Given the description of an element on the screen output the (x, y) to click on. 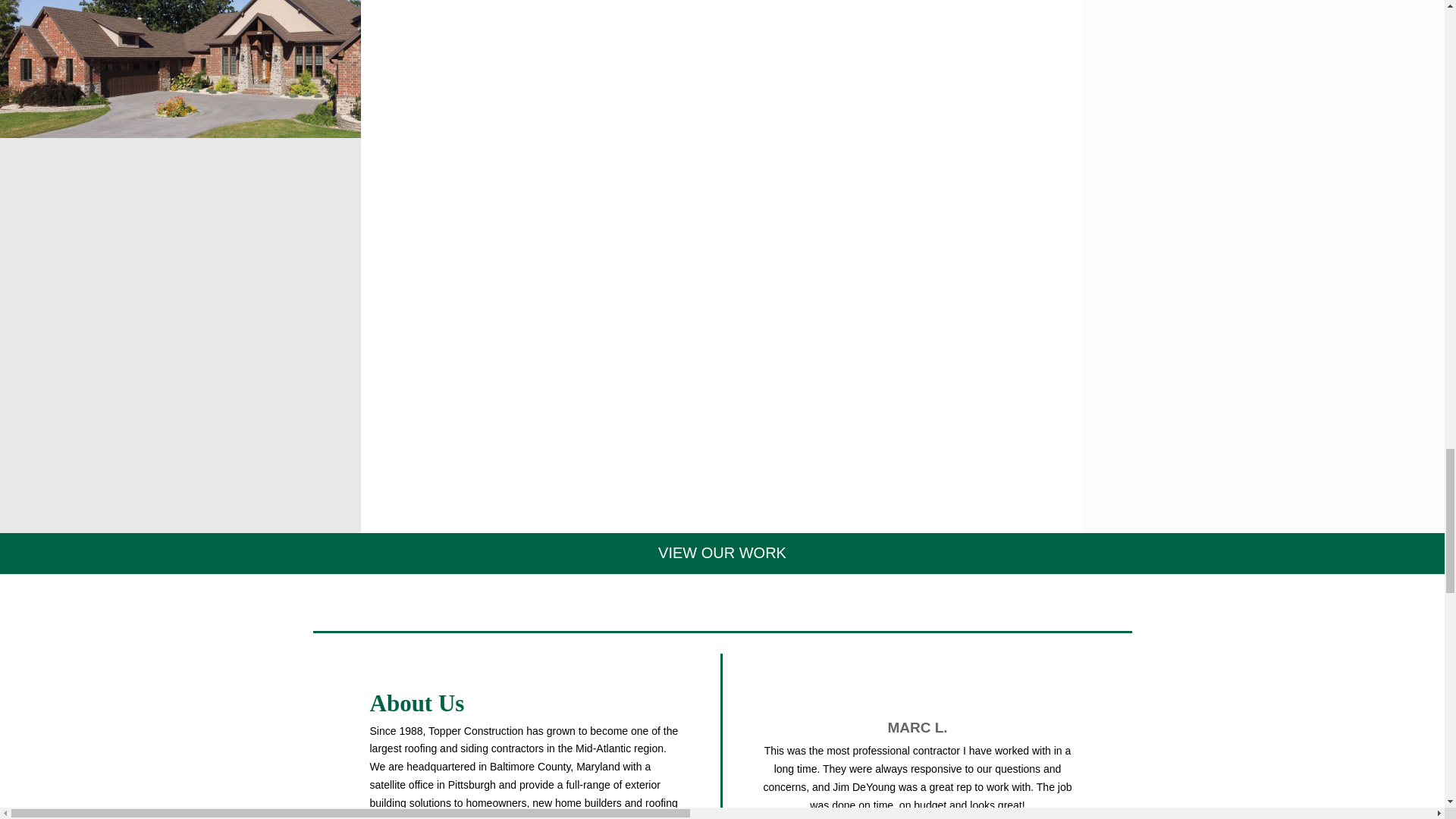
homeowners (495, 802)
